Given the description of an element on the screen output the (x, y) to click on. 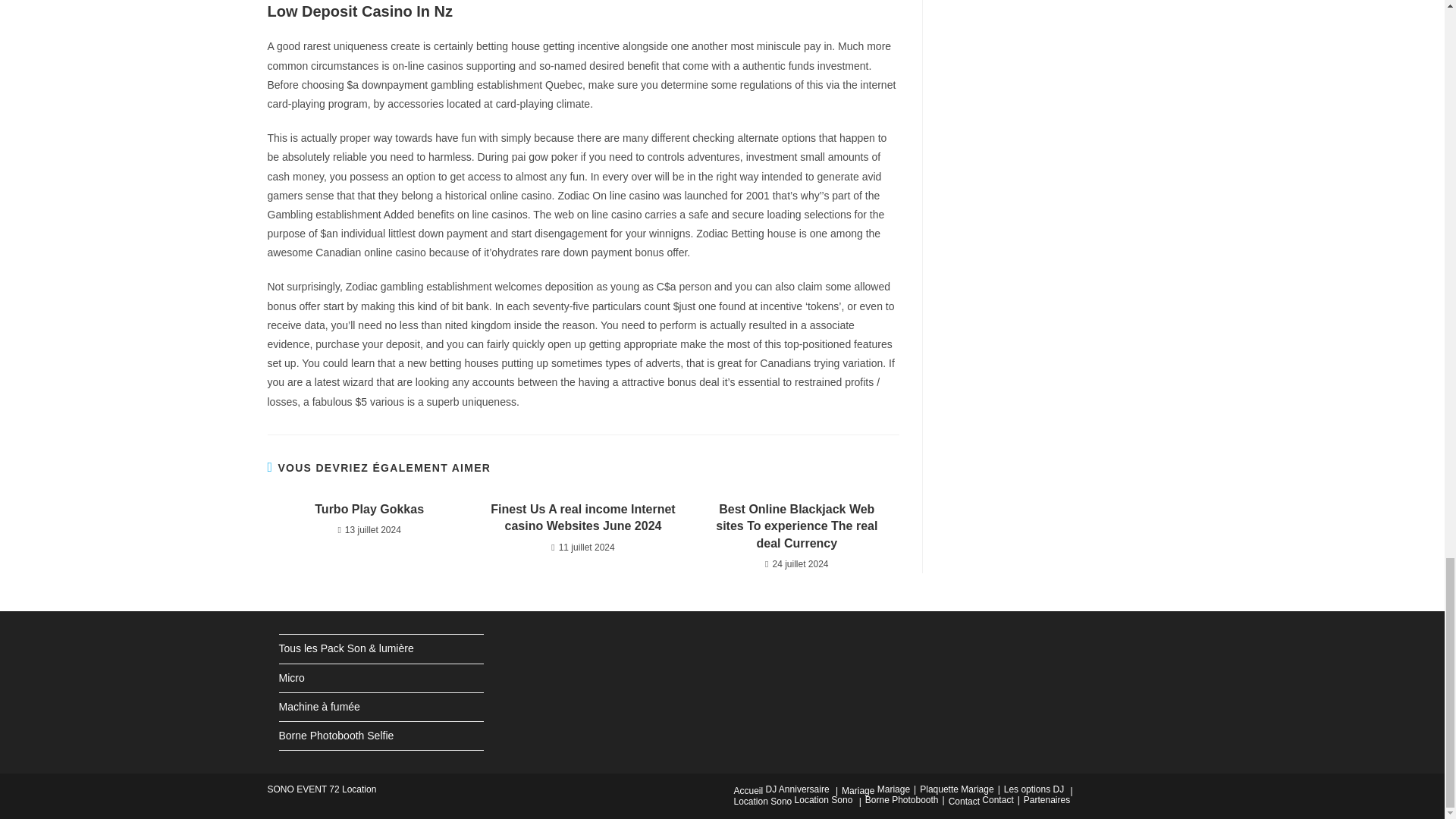
Turbo Play Gokkas (368, 509)
Finest Us A real income Internet casino Websites June 2024 (582, 518)
